Given the description of an element on the screen output the (x, y) to click on. 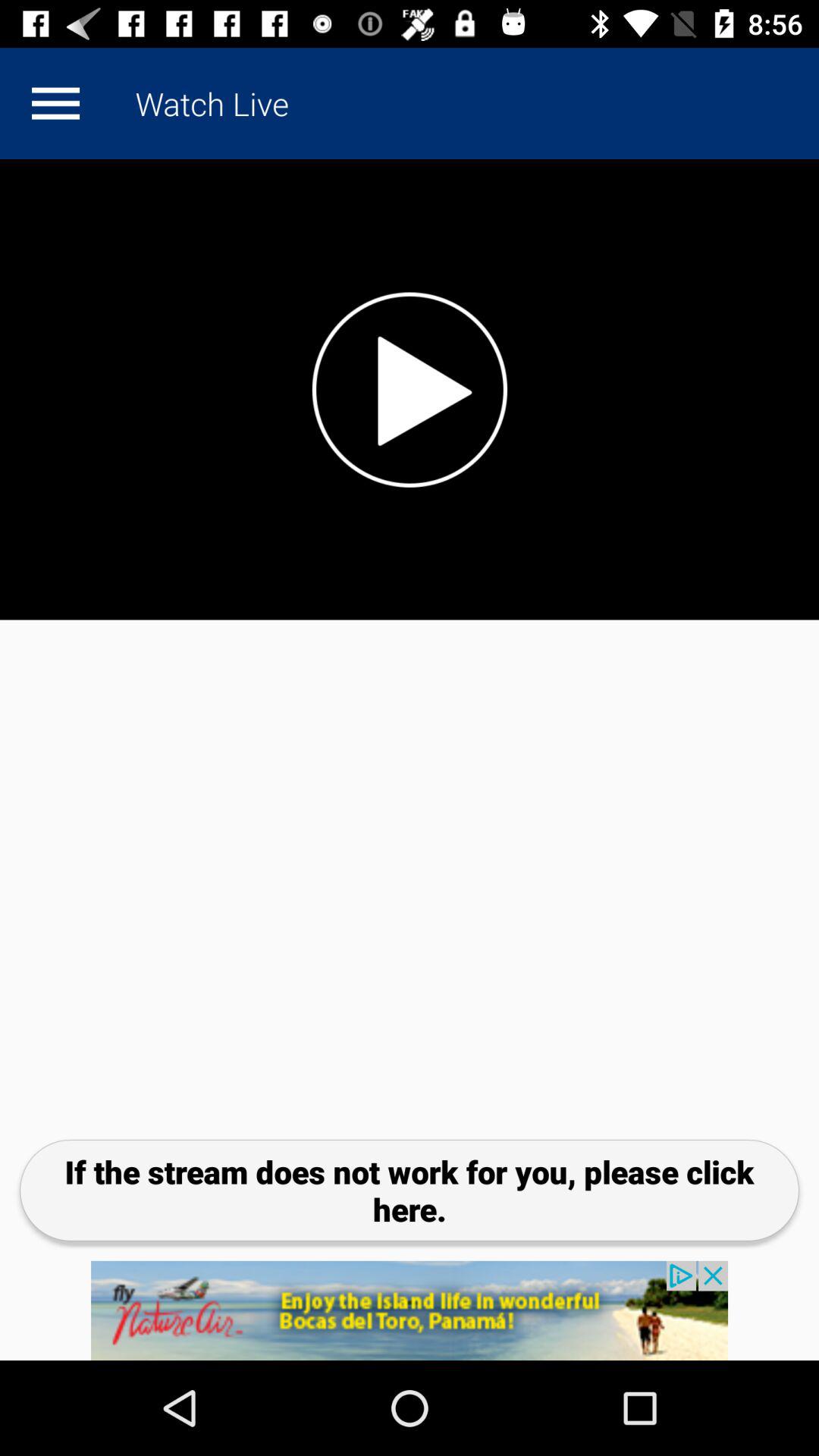
video click option (409, 389)
